Given the description of an element on the screen output the (x, y) to click on. 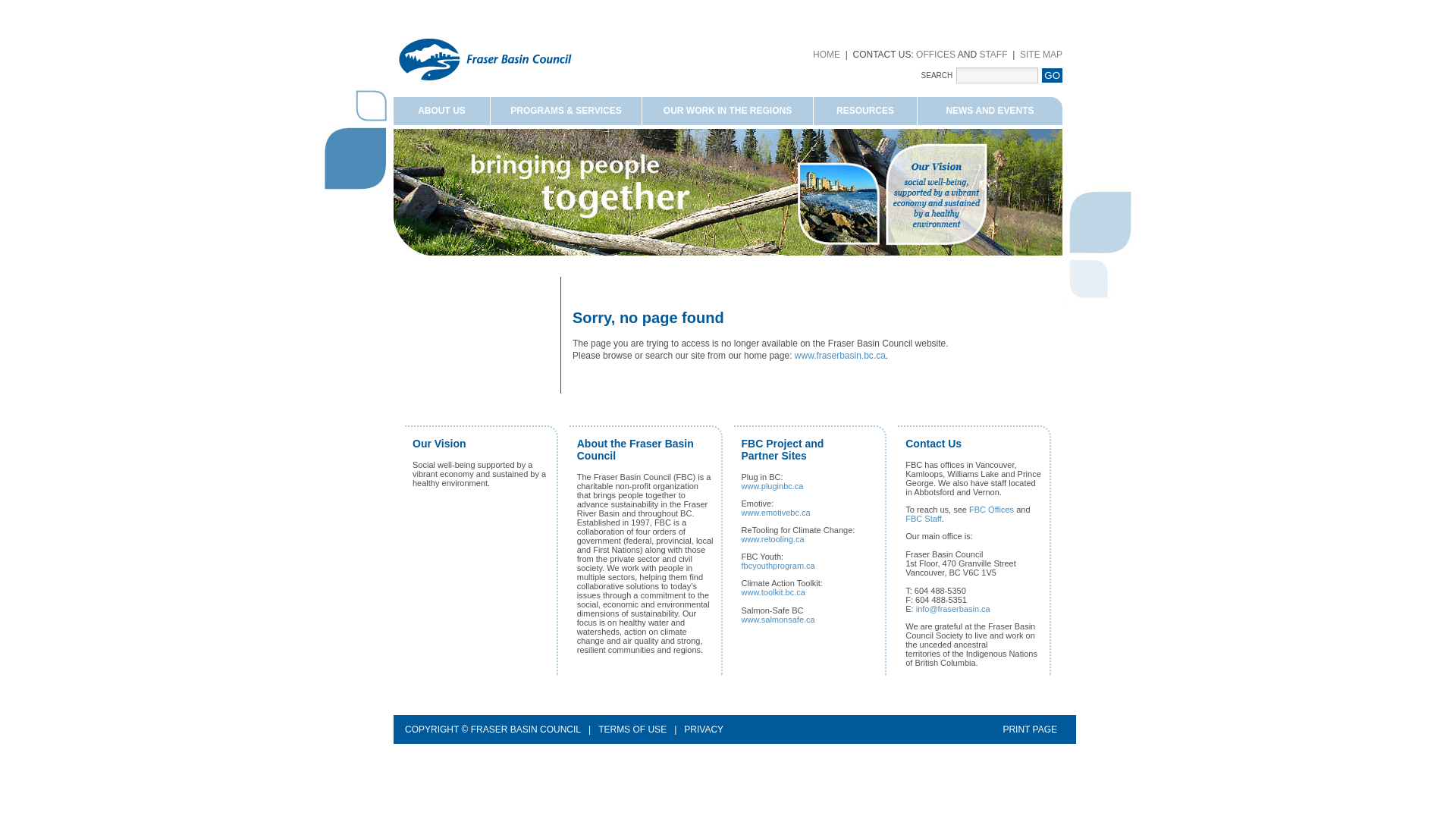
fbcyouthprogram.ca Element type: text (778, 565)
GO Element type: text (1051, 75)
info@fraserbasin.ca Element type: text (953, 608)
FBC Offices Element type: text (991, 509)
www.toolkit.bc.ca Element type: text (773, 591)
PROGRAMS & SERVICES Element type: text (566, 111)
PRIVACY Element type: text (703, 729)
www.salmonsafe.ca Element type: text (778, 619)
FBC Staff Element type: text (923, 518)
HOME Element type: text (826, 54)
www.emotivebc.ca Element type: text (775, 512)
NEWS AND EVENTS Element type: text (989, 111)
PRINT PAGE Element type: text (1029, 729)
RESOURCES Element type: text (865, 111)
www.pluginbc.ca Element type: text (772, 485)
OUR WORK IN THE REGIONS Element type: text (727, 111)
STAFF Element type: text (993, 54)
SITE MAP Element type: text (1040, 54)
www.fraserbasin.bc.ca Element type: text (839, 355)
OFFICES Element type: text (935, 54)
www.retooling.ca Element type: text (772, 538)
TERMS OF USE Element type: text (632, 729)
ABOUT US Element type: text (441, 111)
